Given the description of an element on the screen output the (x, y) to click on. 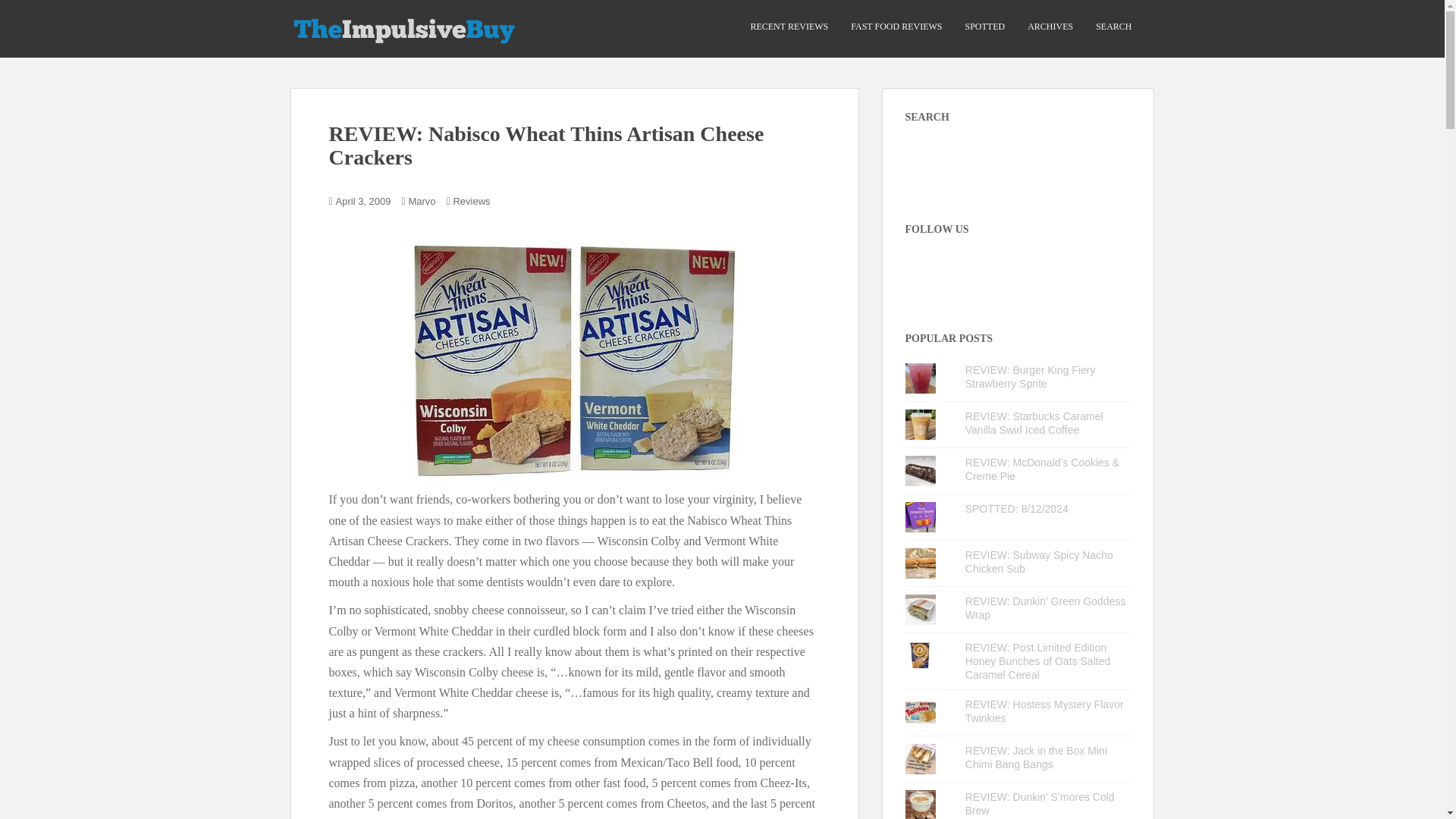
RECENT REVIEWS (788, 26)
ARCHIVES (1050, 26)
April 3, 2009 (363, 201)
FAST FOOD REVIEWS (896, 26)
Wheat Thins Artisan by theimpulsivebuy, on Flickr (574, 359)
Reviews (470, 201)
SEARCH (1113, 26)
Marvo (421, 201)
SPOTTED (983, 26)
